Given the description of an element on the screen output the (x, y) to click on. 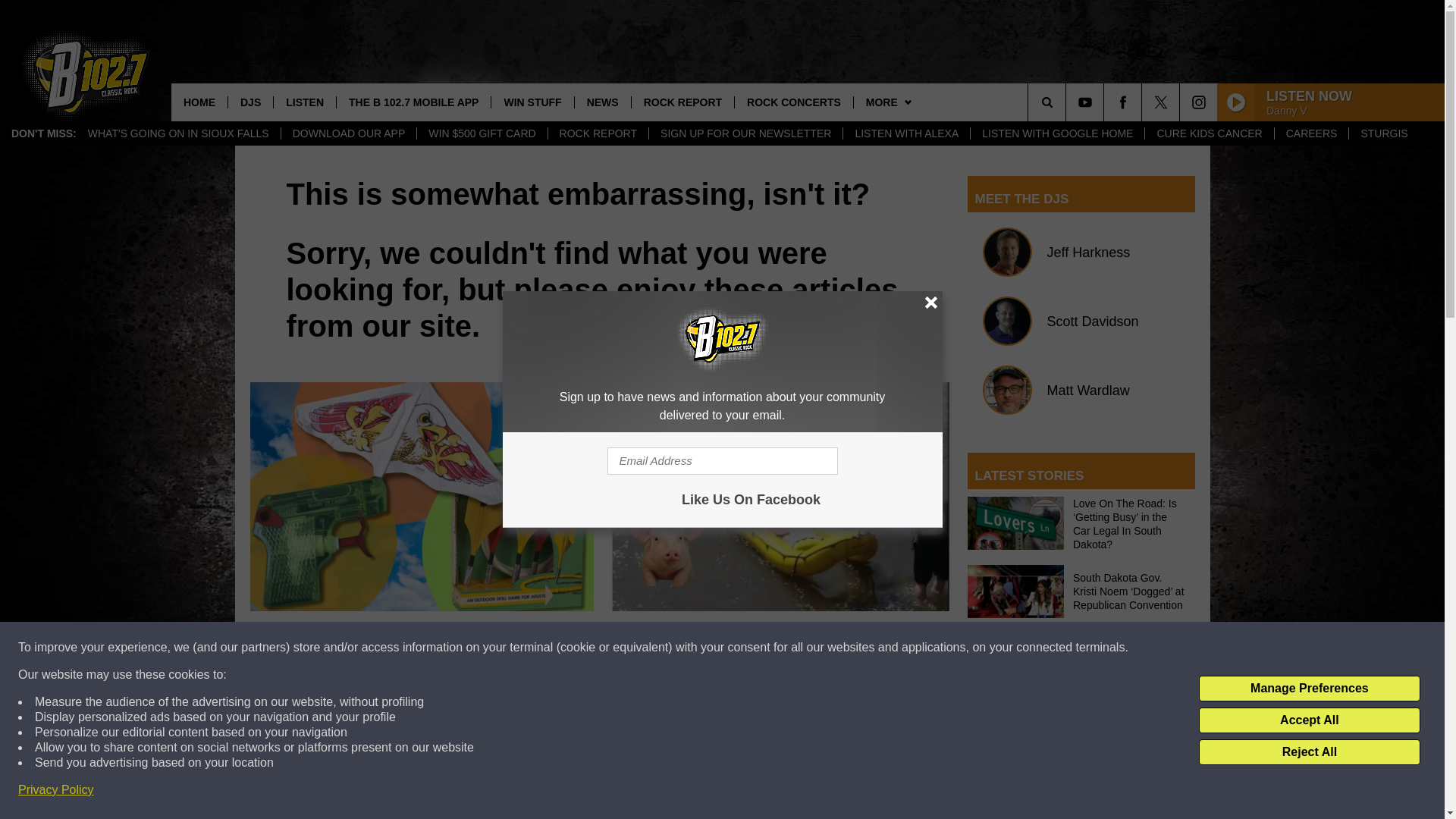
Accept All (1309, 720)
SIGN UP FOR OUR NEWSLETTER (745, 133)
LISTEN WITH ALEXA (906, 133)
HOME (199, 102)
CAREERS (1311, 133)
SEARCH (1068, 102)
Reject All (1309, 751)
Privacy Policy (55, 789)
LISTEN (304, 102)
ROCK REPORT (597, 133)
Email Address (722, 461)
SEARCH (1068, 102)
DOWNLOAD OUR APP (348, 133)
STURGIS (1383, 133)
CURE KIDS CANCER (1208, 133)
